Given the description of an element on the screen output the (x, y) to click on. 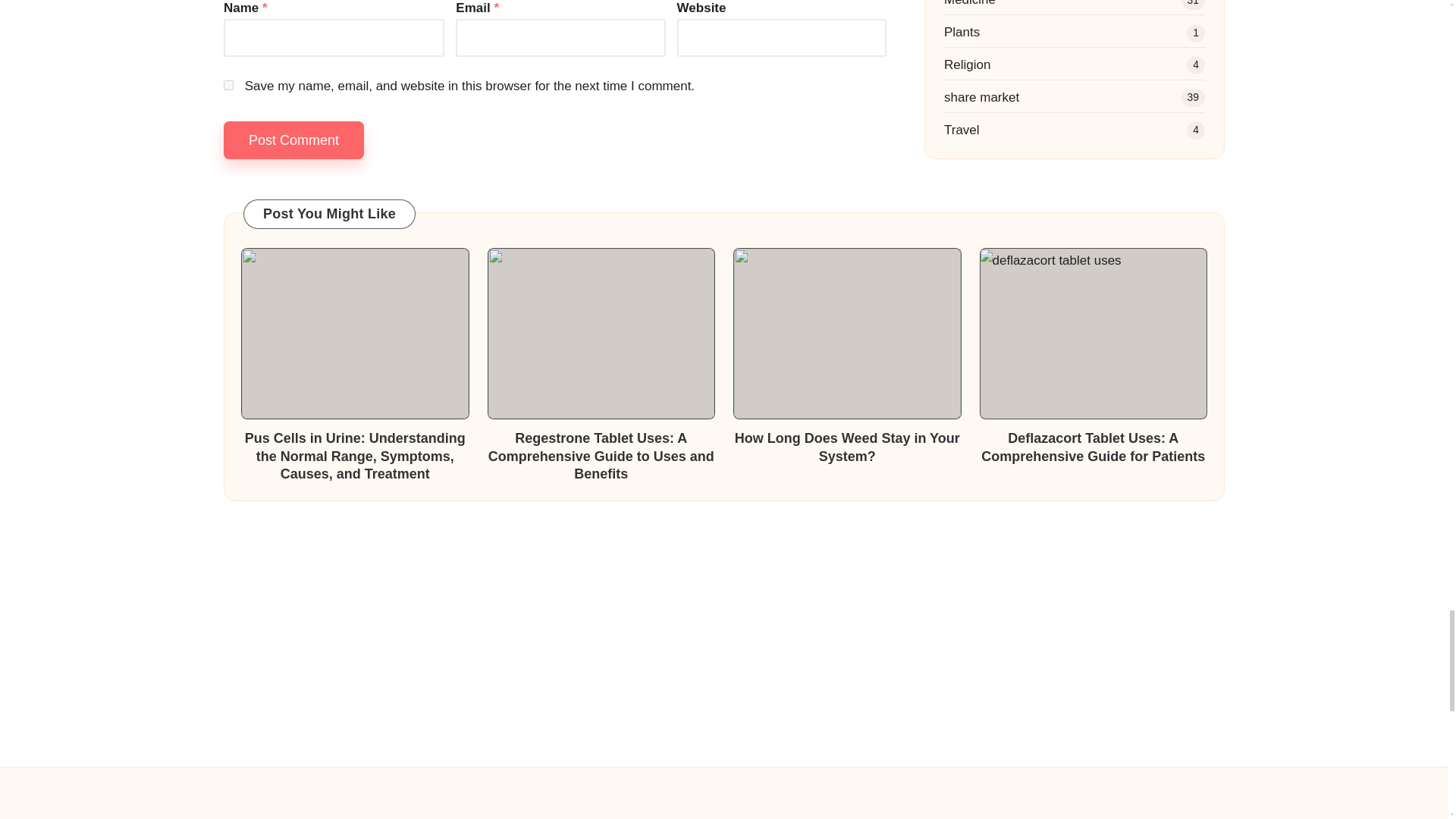
Post Comment (294, 140)
yes (228, 85)
